Given the description of an element on the screen output the (x, y) to click on. 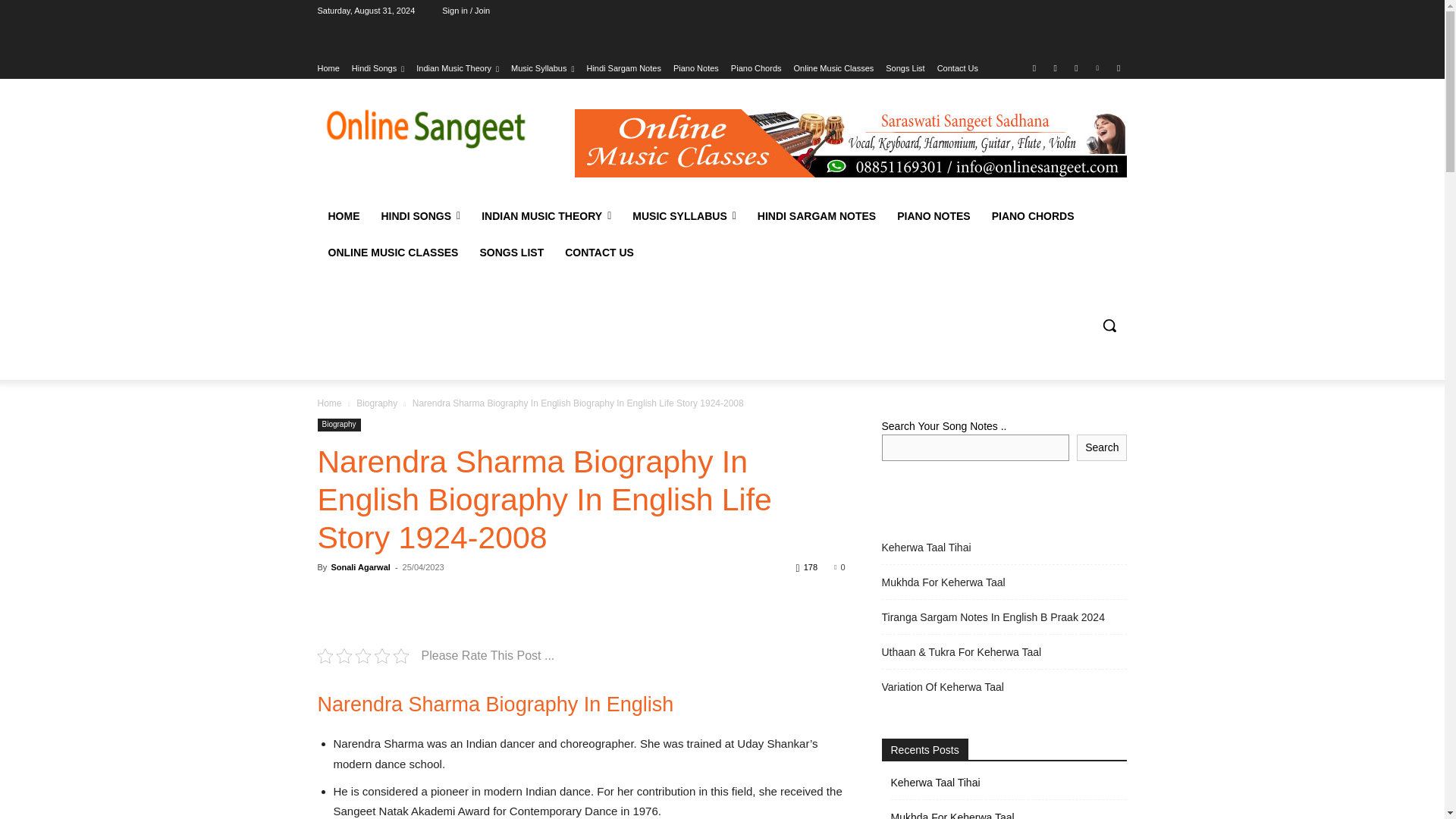
Instagram (1055, 67)
Home (328, 67)
Facebook (1034, 67)
Twitter (1075, 67)
Youtube (1117, 67)
Hindi Songs (378, 67)
View all posts in Biography (376, 403)
Vimeo (1097, 67)
